Given the description of an element on the screen output the (x, y) to click on. 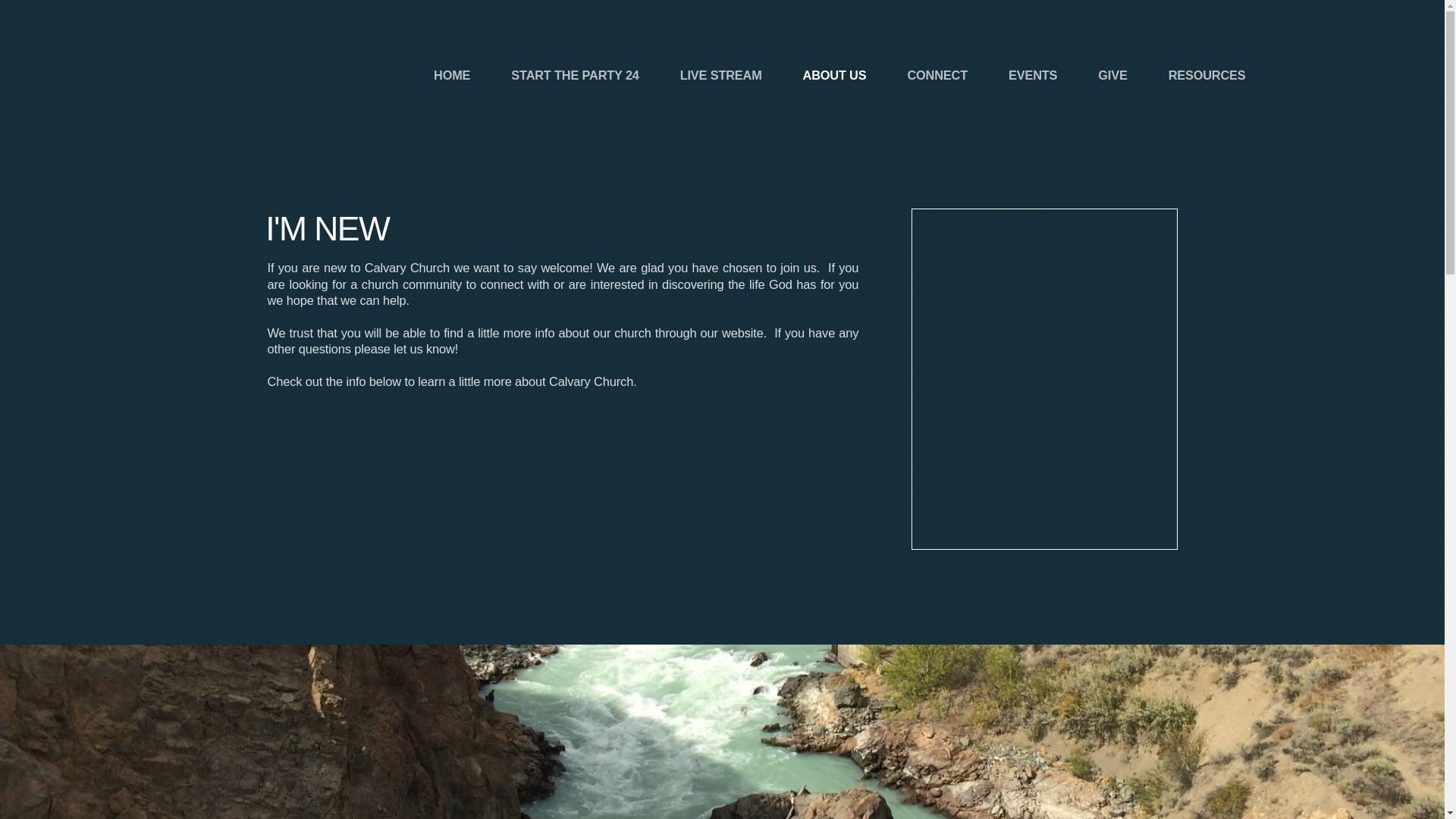
ABOUT US (834, 75)
LIVE STREAM (721, 75)
START THE PARTY 24 (574, 75)
HOME (451, 75)
